Given the description of an element on the screen output the (x, y) to click on. 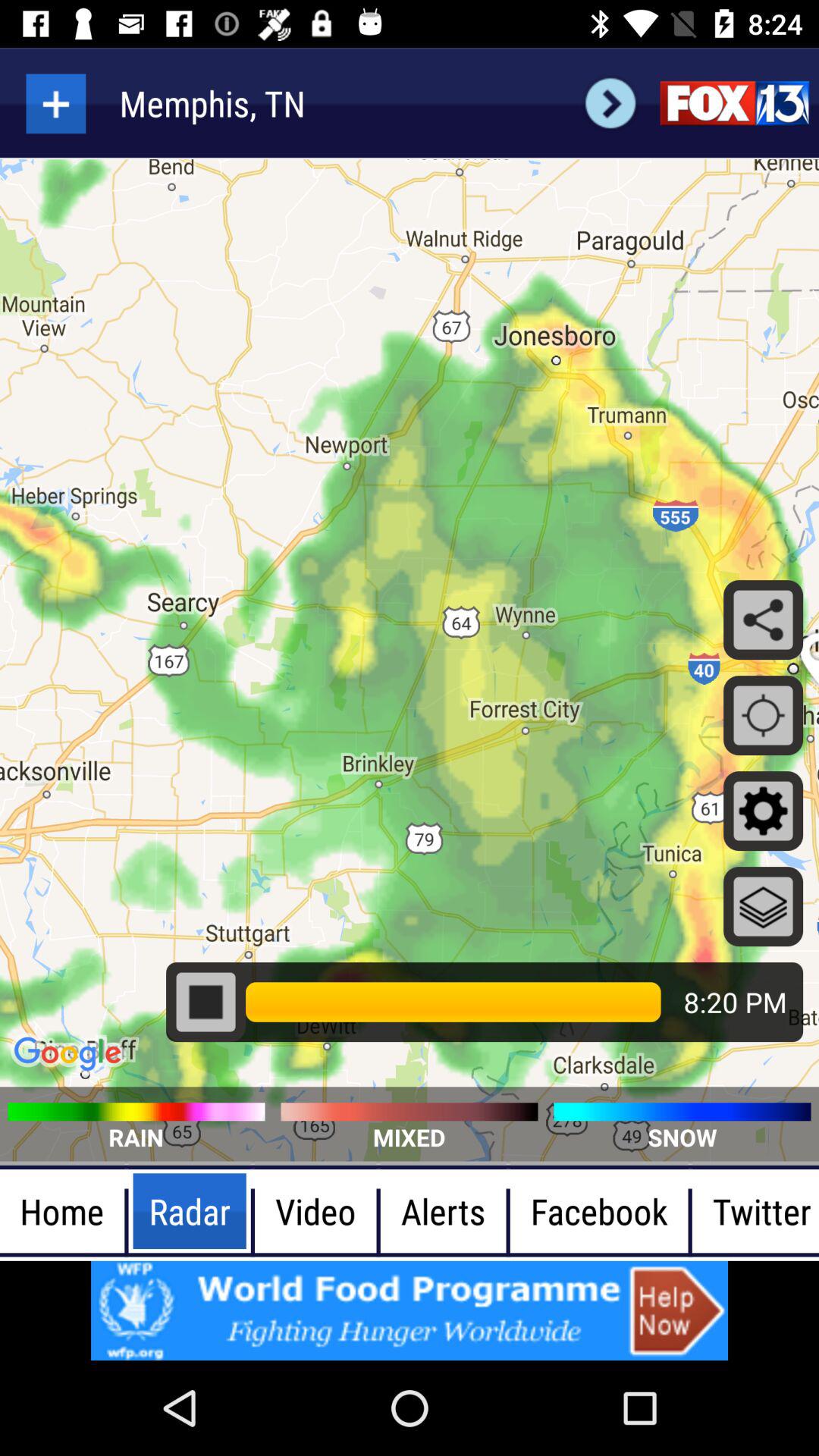
go to fox home page (734, 103)
